Given the description of an element on the screen output the (x, y) to click on. 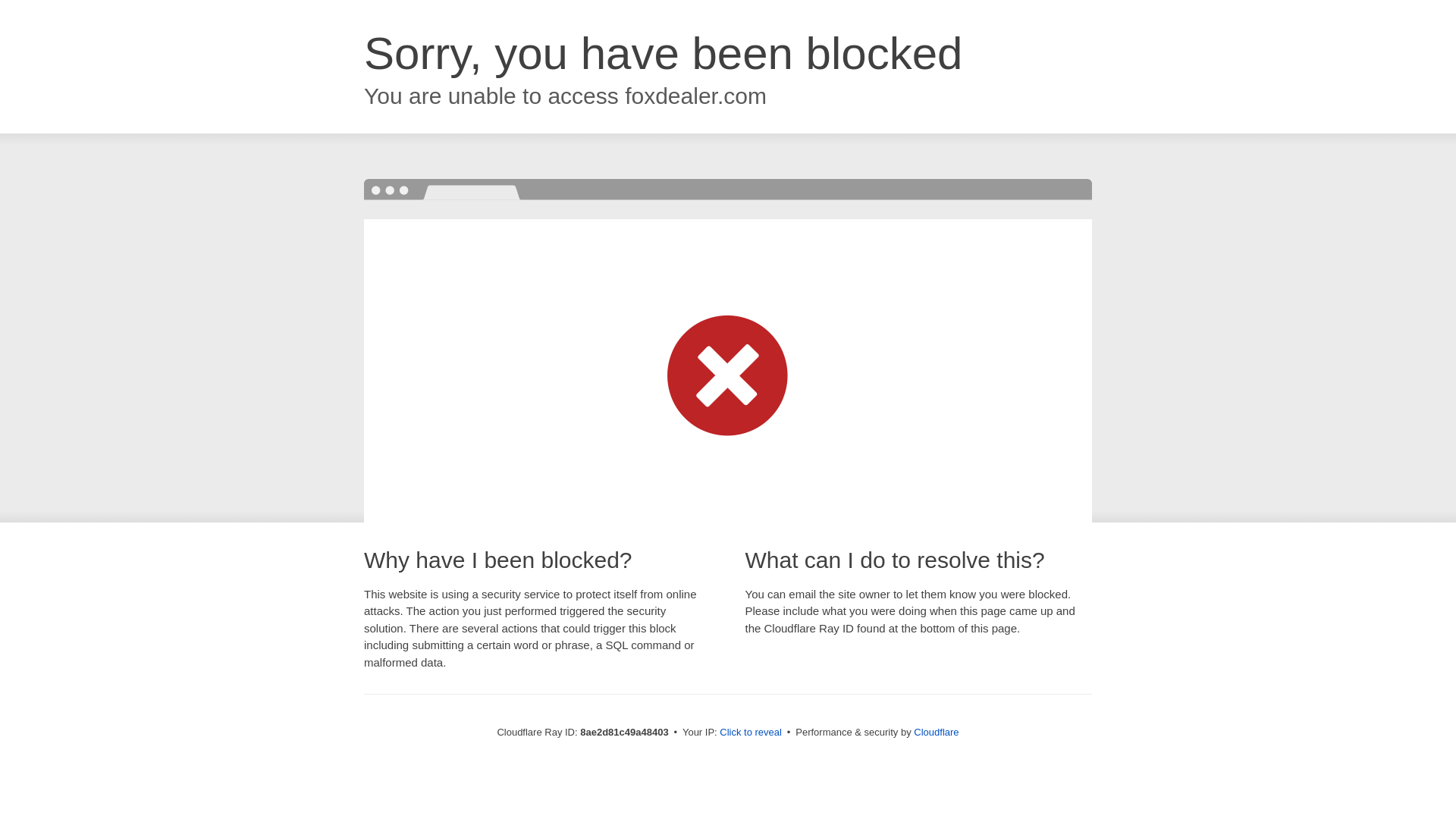
Click to reveal (750, 732)
Cloudflare (936, 731)
